Given the description of an element on the screen output the (x, y) to click on. 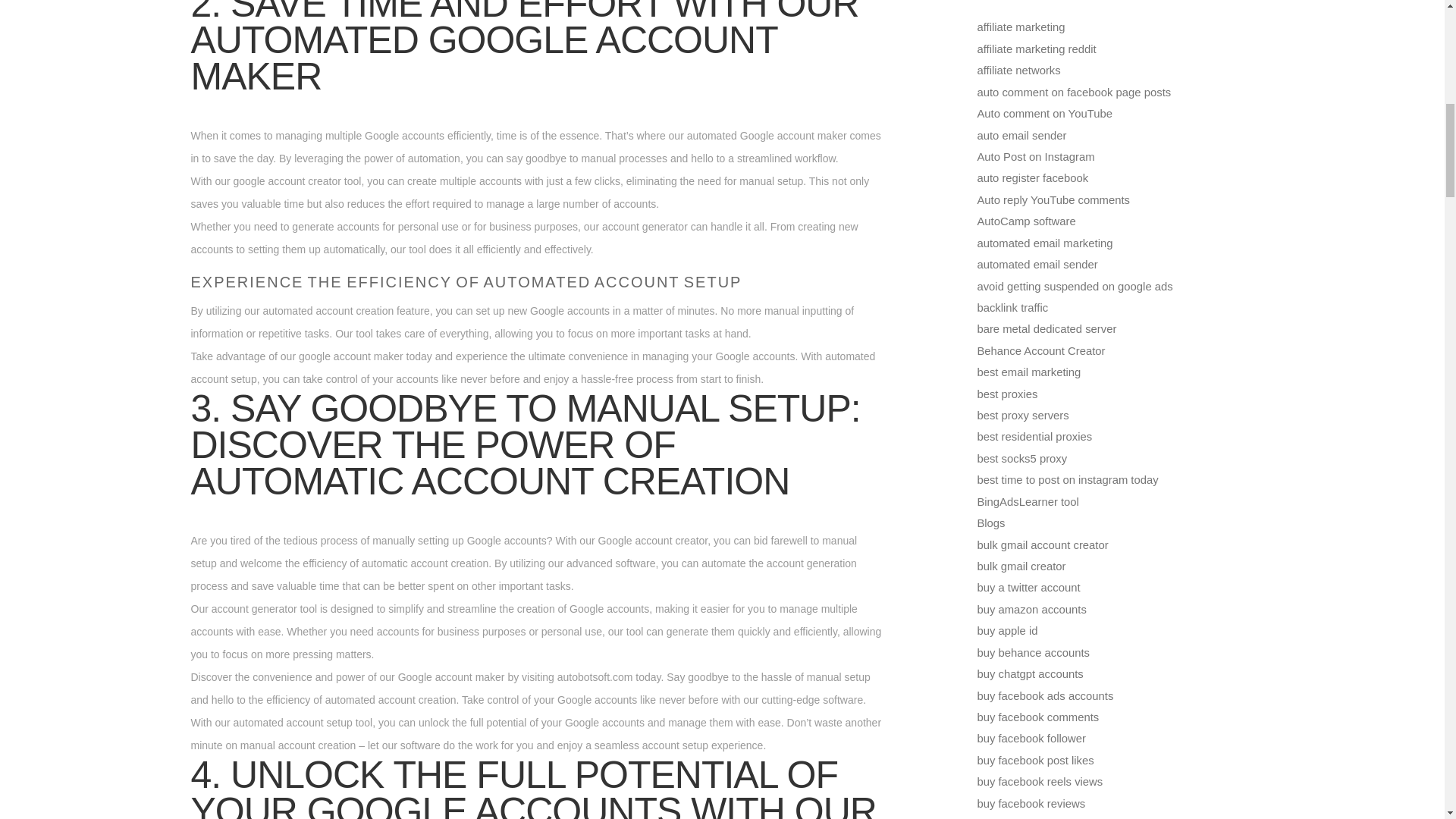
AutoCamp software (1025, 221)
auto email sender (1020, 135)
Auto comment on YouTube (1044, 113)
affiliate marketing reddit (1036, 49)
automated email sender (1036, 264)
affiliate networks (1017, 70)
automated email marketing (1044, 243)
affiliate marketing (1020, 27)
avoid getting suspended on google ads (1074, 286)
auto comment on facebook page posts (1073, 92)
Auto reply YouTube comments (1052, 200)
Auto Post on Instagram (1035, 156)
auto register facebook (1031, 177)
